Given the description of an element on the screen output the (x, y) to click on. 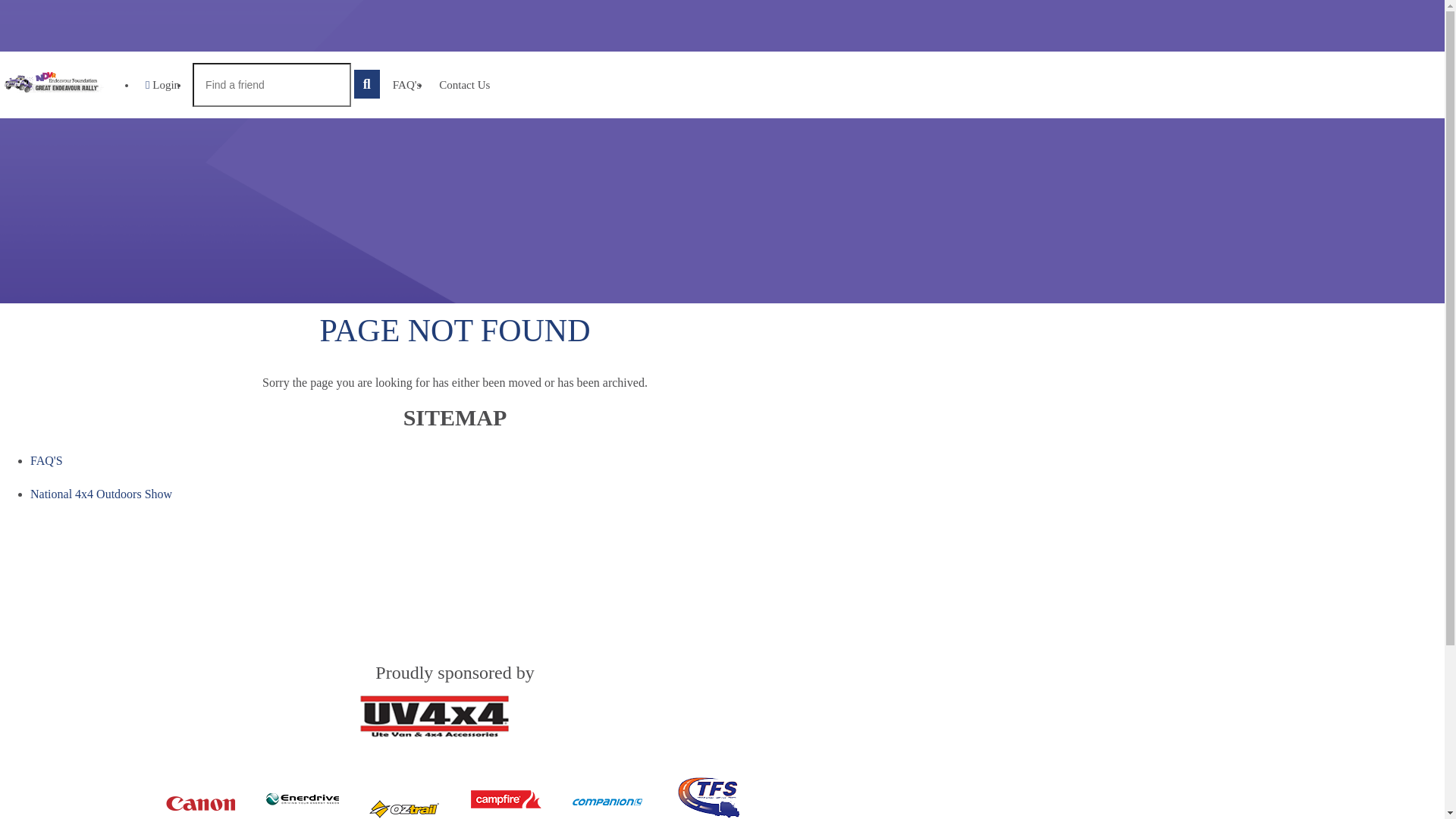
National 4x4 Outdoors Show Element type: text (101, 493)
FAQ's Element type: text (406, 84)
Contact Us Element type: text (463, 84)
Login Element type: text (162, 84)
FAQ'S Element type: text (46, 460)
